Given the description of an element on the screen output the (x, y) to click on. 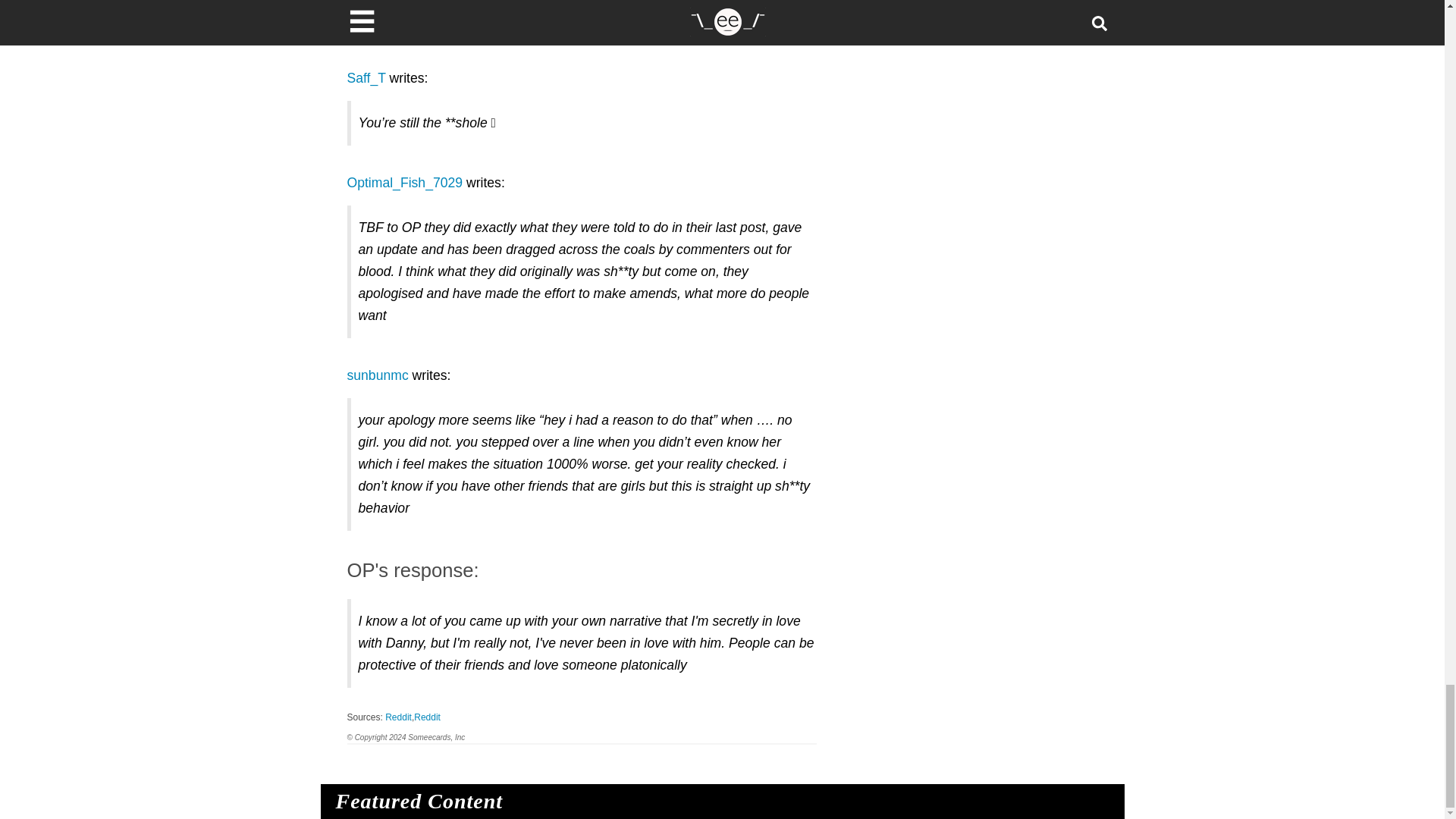
sunbunmc (378, 375)
Reddit (427, 716)
Reddit (398, 716)
